Given the description of an element on the screen output the (x, y) to click on. 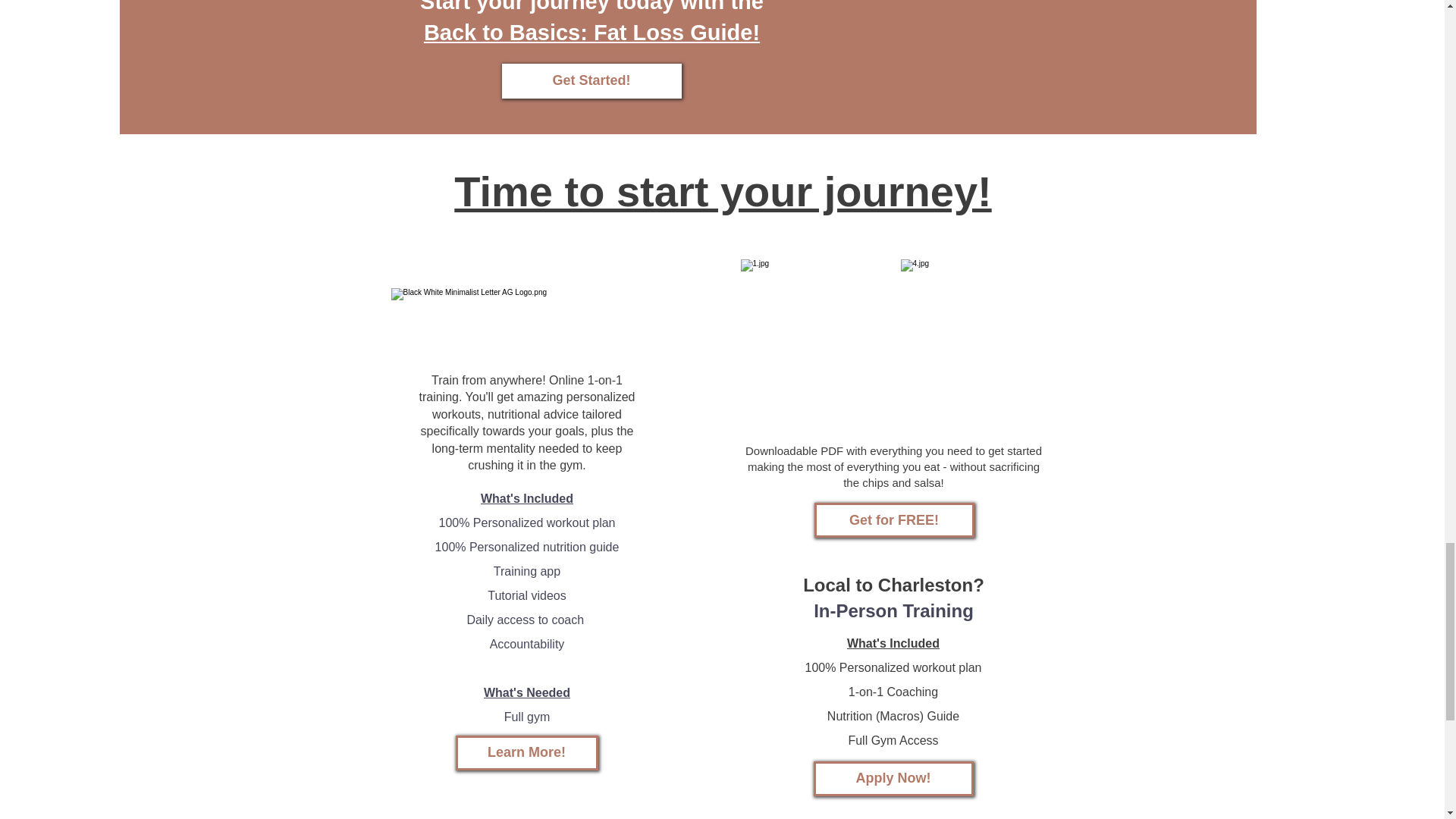
1.png (1016, 62)
Get for FREE! (893, 519)
Get Started! (591, 80)
Learn More! (525, 752)
Apply Now! (892, 778)
2.png (949, 48)
